Given the description of an element on the screen output the (x, y) to click on. 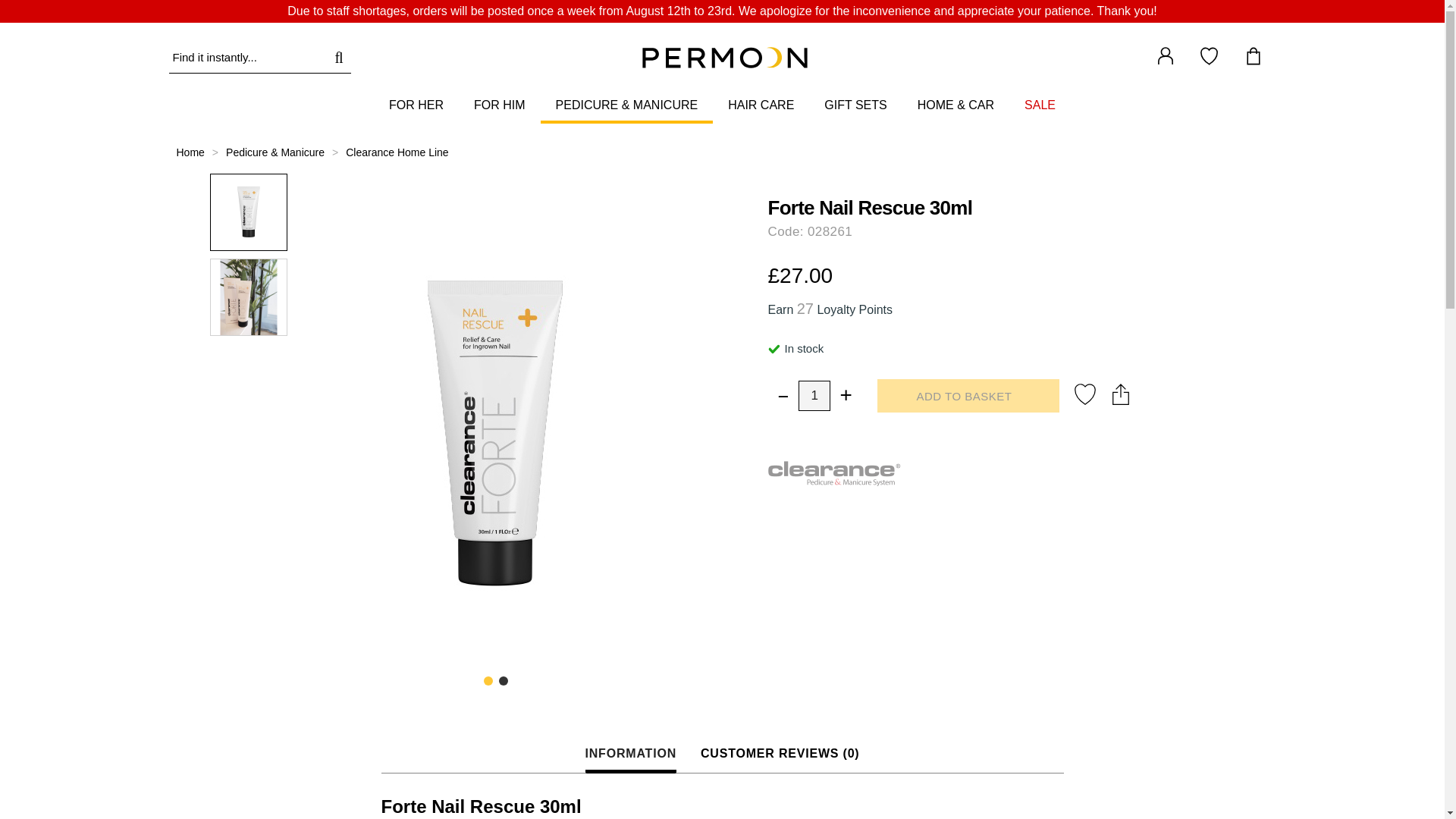
GIFT SETS (855, 106)
FOR HER (416, 106)
Clearance Home Line (397, 152)
HAIR CARE (761, 106)
ADD TO BASKET (967, 395)
FOR HIM (499, 106)
1 (814, 395)
SALE (1039, 106)
In stock (772, 348)
